Given the description of an element on the screen output the (x, y) to click on. 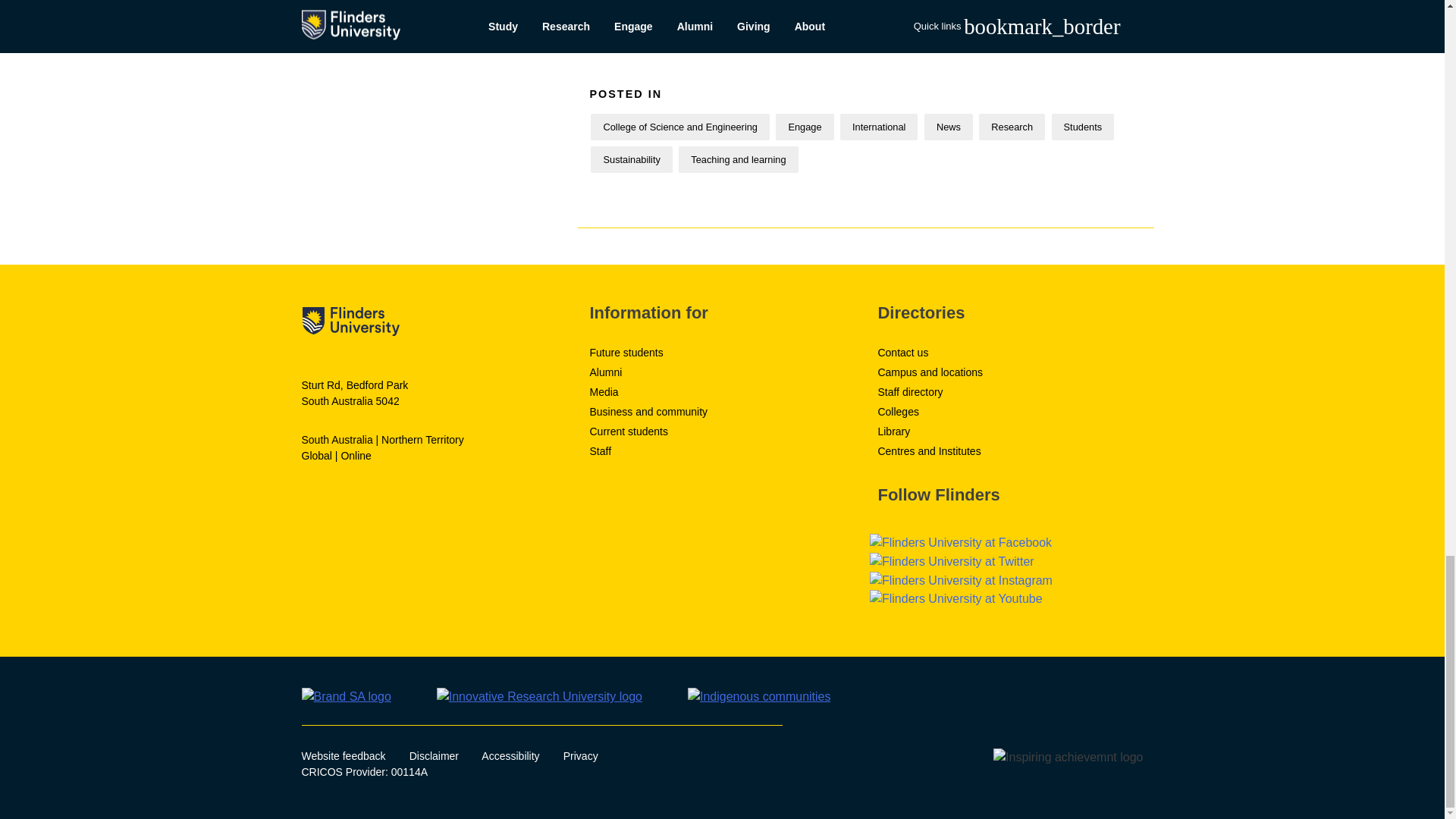
Engage (804, 126)
College of Science and Engineering (679, 126)
International (878, 126)
